Given the description of an element on the screen output the (x, y) to click on. 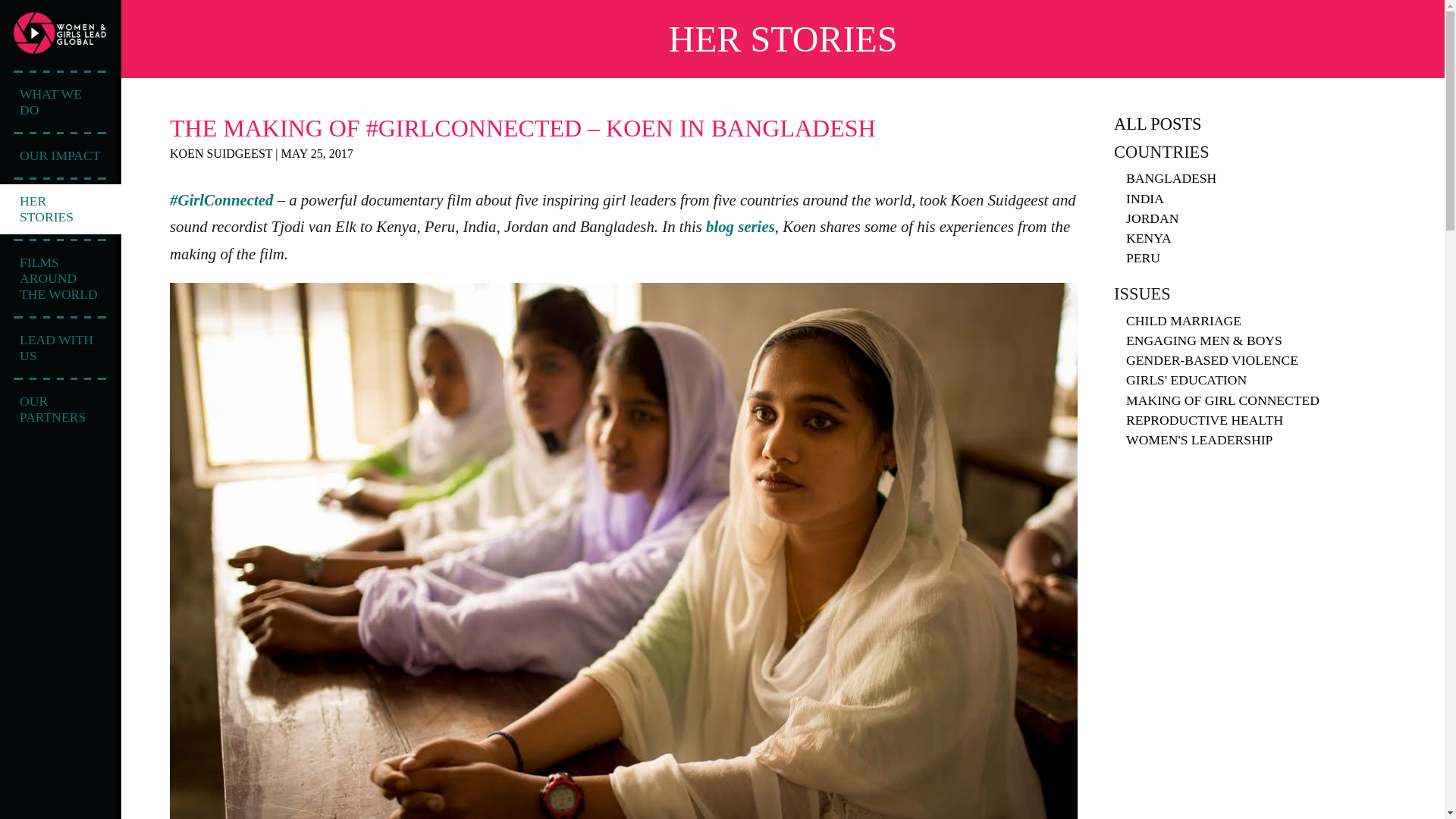
HER STORIES (62, 209)
GENDER-BASED VIOLENCE (1211, 359)
PERU (1142, 257)
BANGLADESH (1170, 177)
OUR PARTNERS (60, 409)
CHILD MARRIAGE (1183, 320)
REPRODUCTIVE HEALTH (1203, 419)
JORDAN (1151, 218)
HER STORIES (783, 38)
GIRLS' EDUCATION (1185, 379)
ALL POSTS (1157, 123)
WOMEN'S LEADERSHIP (1198, 439)
MAKING OF GIRL CONNECTED (1222, 400)
WHAT WE DO (60, 101)
FILMS AROUND THE WORLD (60, 278)
